Given the description of an element on the screen output the (x, y) to click on. 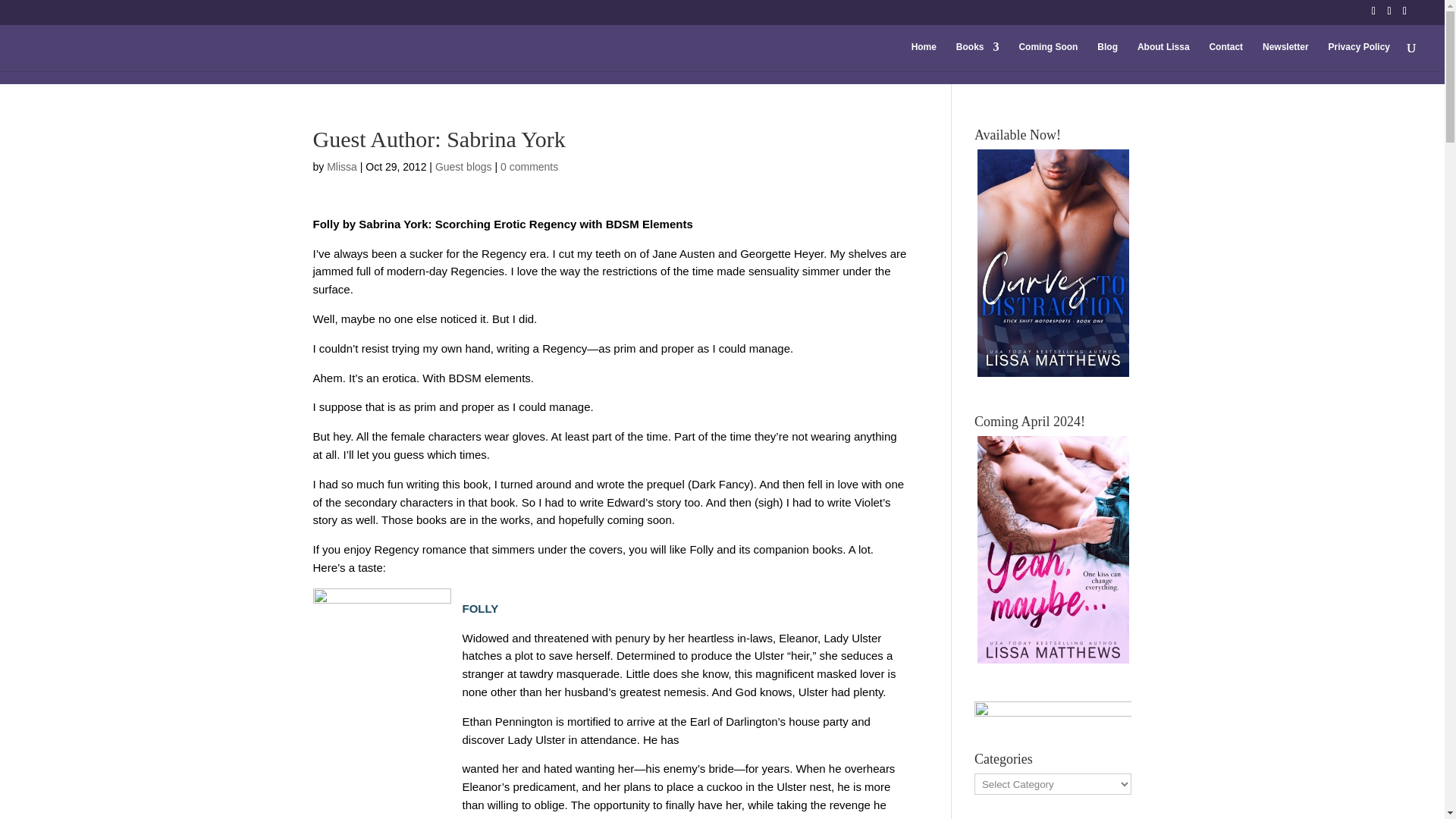
Posts by Mlissa (341, 166)
Privacy Policy (1358, 56)
0 comments (528, 166)
About Lissa (1163, 56)
Contact (1225, 56)
FOLLY (481, 608)
Guest blogs (463, 166)
Coming Soon (1047, 56)
Newsletter (1285, 56)
Mlissa (341, 166)
Books (977, 56)
